Given the description of an element on the screen output the (x, y) to click on. 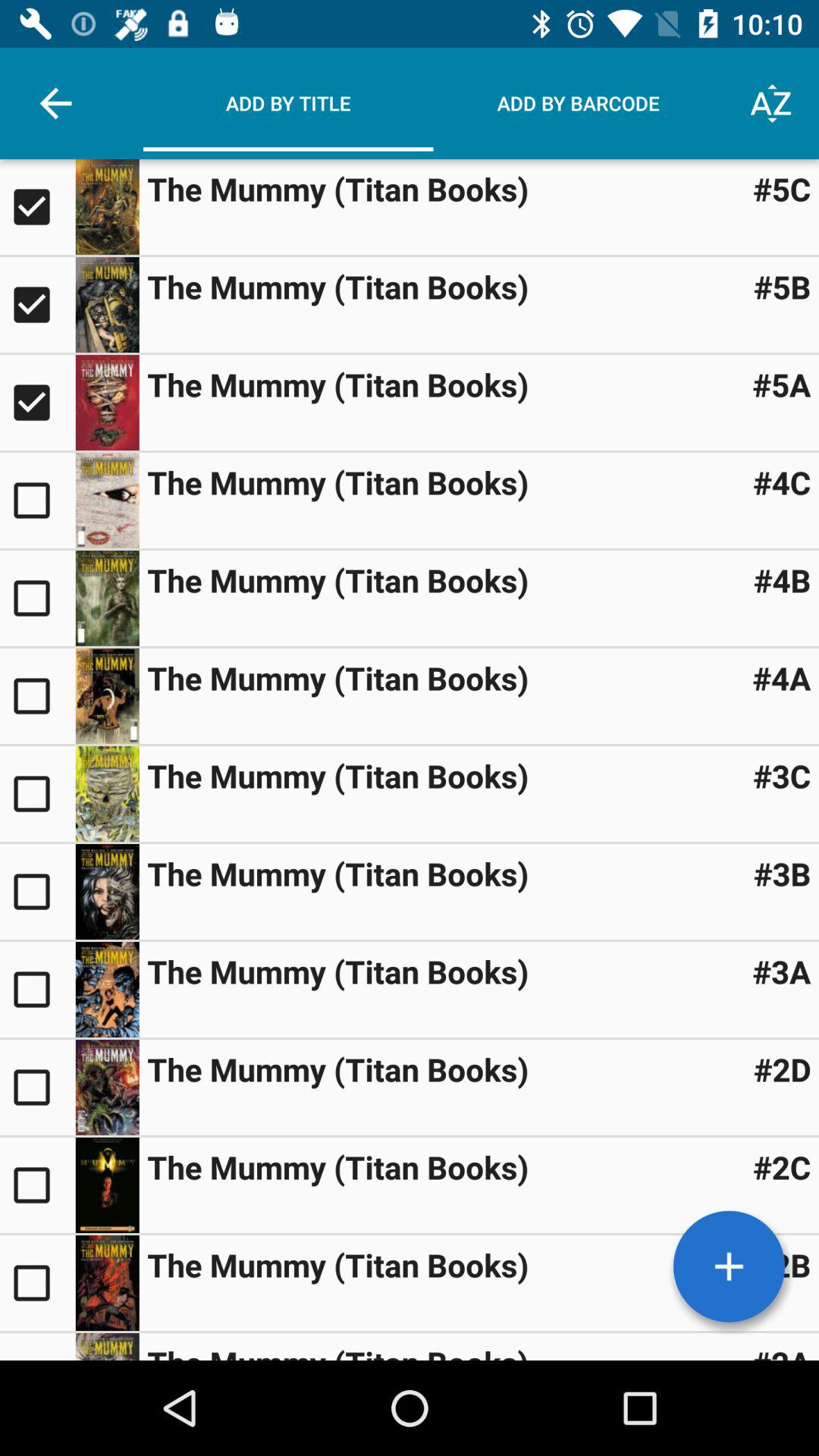
go to book information (107, 1346)
